Given the description of an element on the screen output the (x, y) to click on. 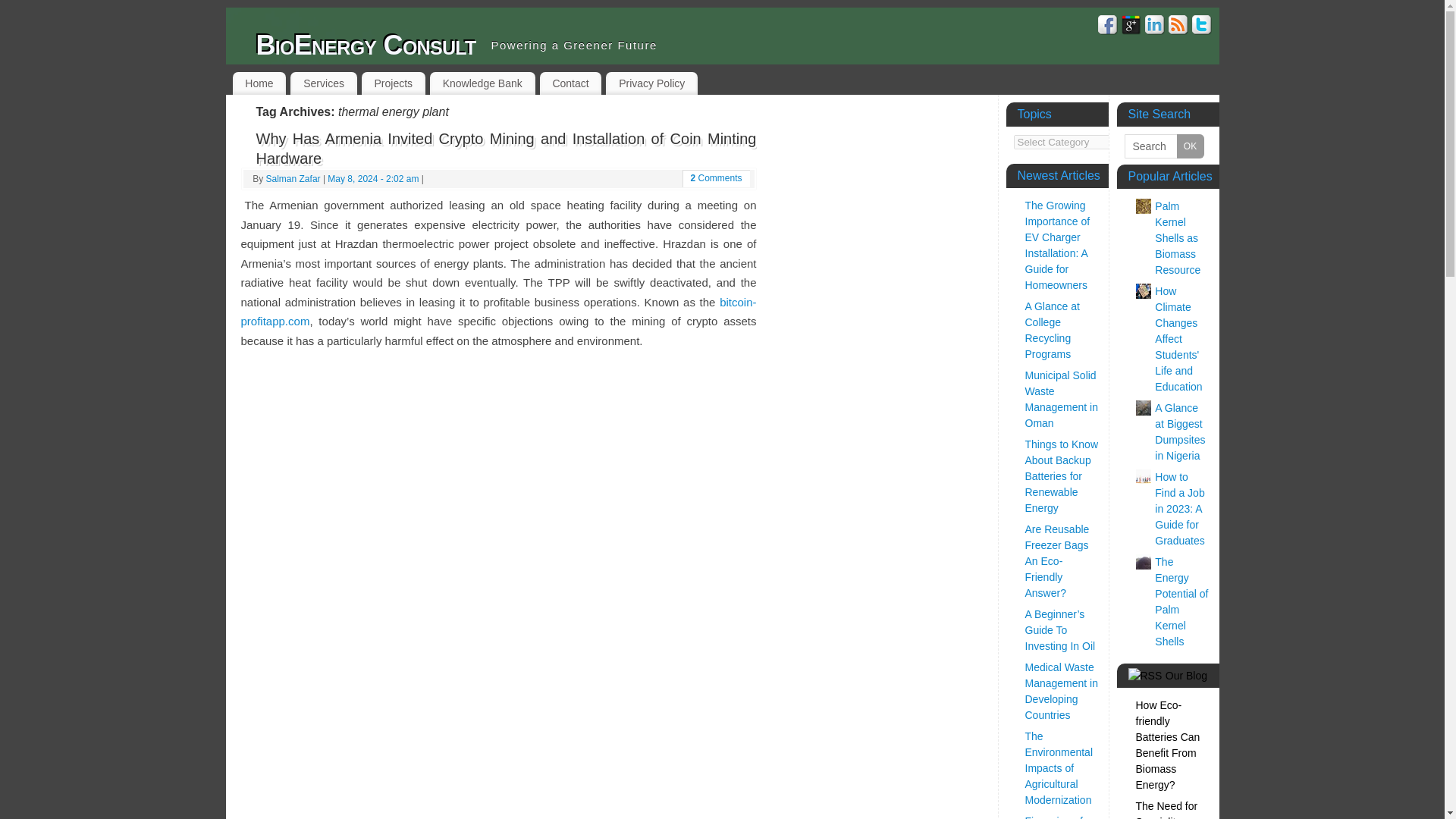
BioEnergy Consult (366, 44)
Salman Zafar (293, 178)
Privacy Policy (651, 83)
View all posts by Salman Zafar (293, 178)
OK (1190, 146)
bitcoin-profitapp.com (499, 311)
Projects (393, 83)
2:02 am (373, 178)
Services (322, 83)
BioEnergy Consult (366, 44)
